Given the description of an element on the screen output the (x, y) to click on. 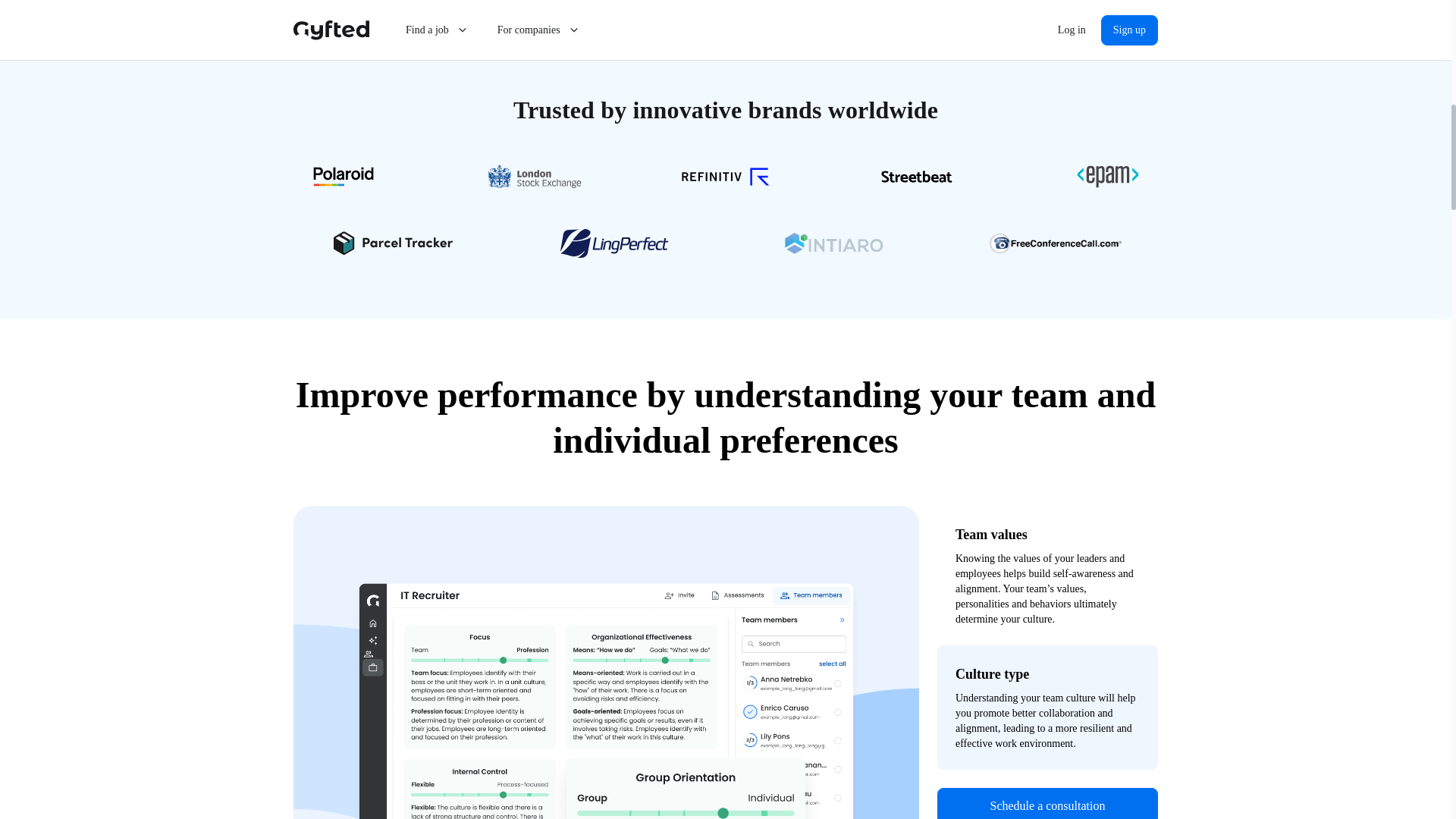
Schedule a consultation (1047, 803)
